Given the description of an element on the screen output the (x, y) to click on. 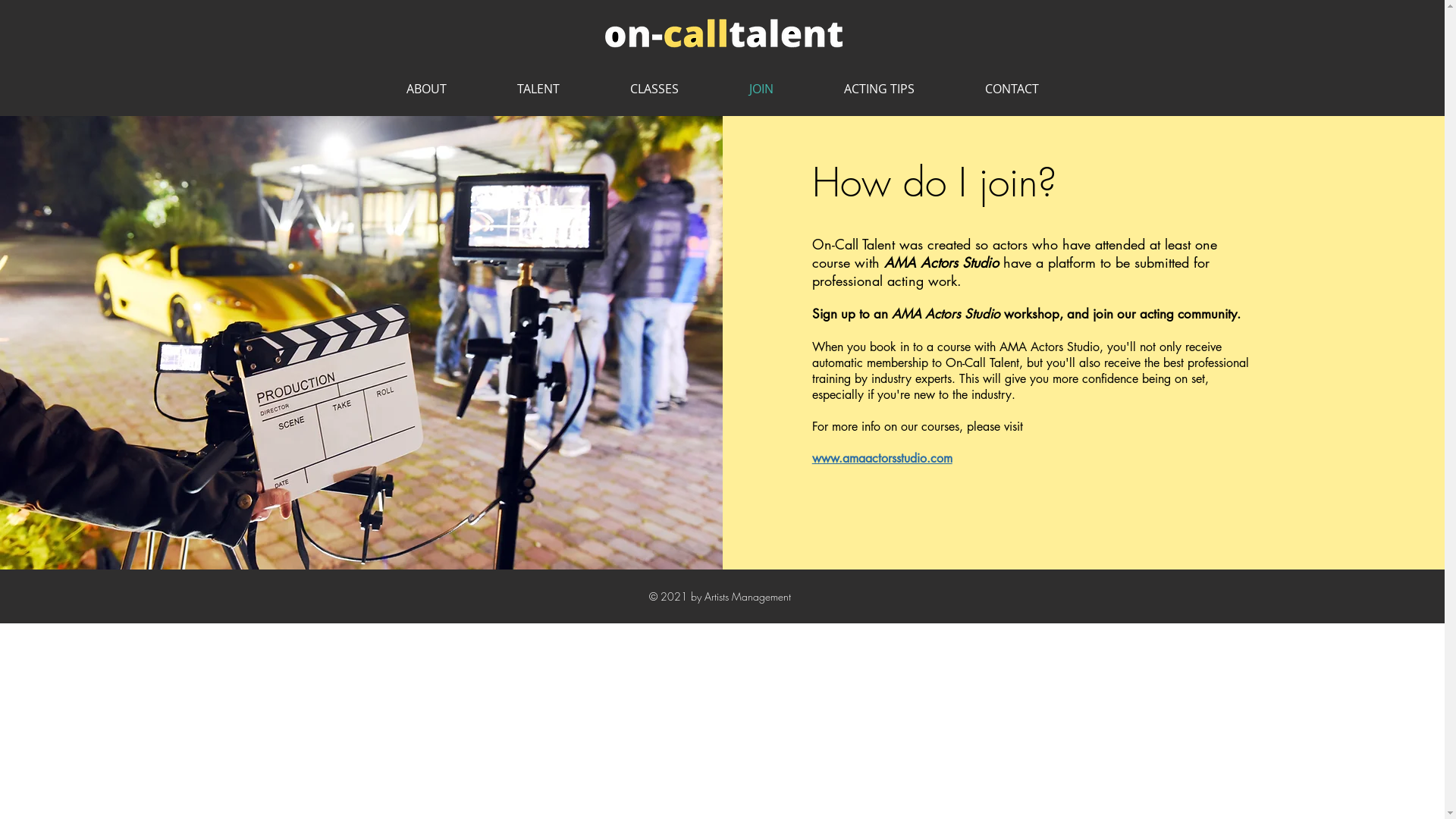
www.amaactorsstudio.com Element type: text (882, 458)
CLASSES Element type: text (653, 88)
TALENT Element type: text (538, 88)
ABOUT Element type: text (426, 88)
ACTING TIPS Element type: text (878, 88)
CONTACT Element type: text (1011, 88)
JOIN Element type: text (761, 88)
